Given the description of an element on the screen output the (x, y) to click on. 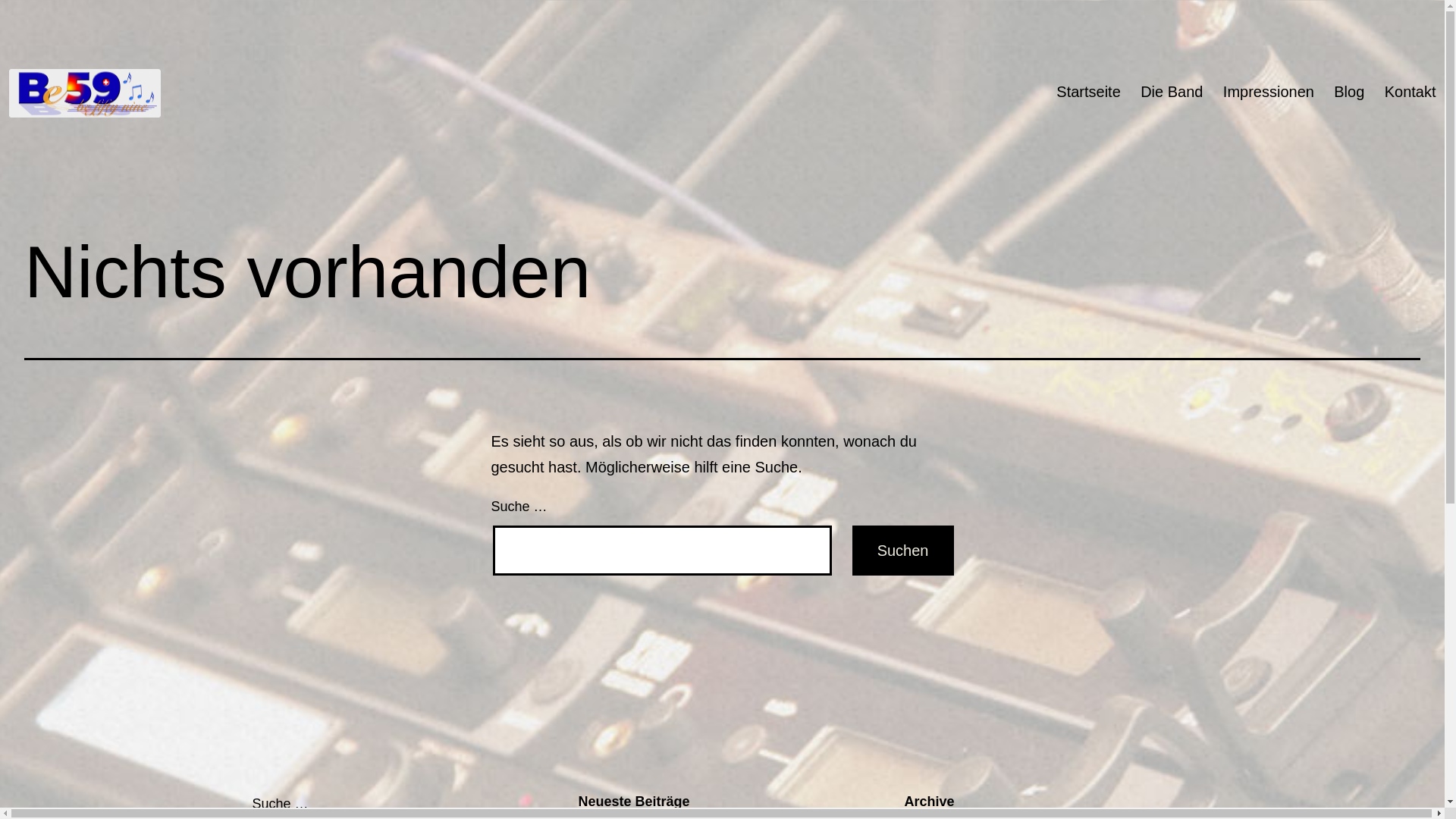
Startseite Element type: text (1088, 90)
Kontakt Element type: text (1409, 90)
Impressionen Element type: text (1268, 90)
Blog Element type: text (1349, 90)
Die Band Element type: text (1171, 90)
Suchen Element type: text (902, 550)
